Given the description of an element on the screen output the (x, y) to click on. 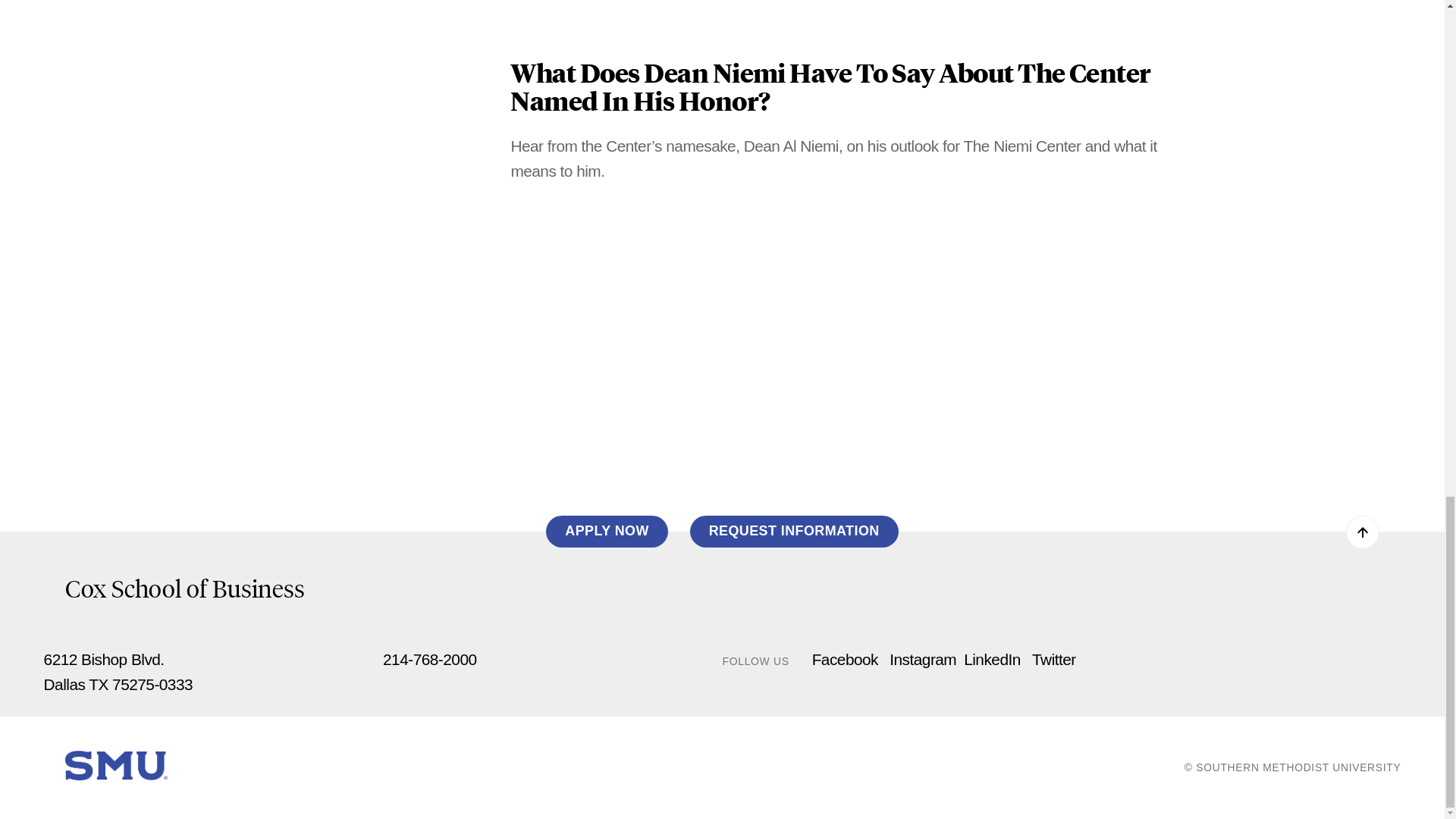
How the Niemi Center came into existence - YouTube (776, 8)
